Given the description of an element on the screen output the (x, y) to click on. 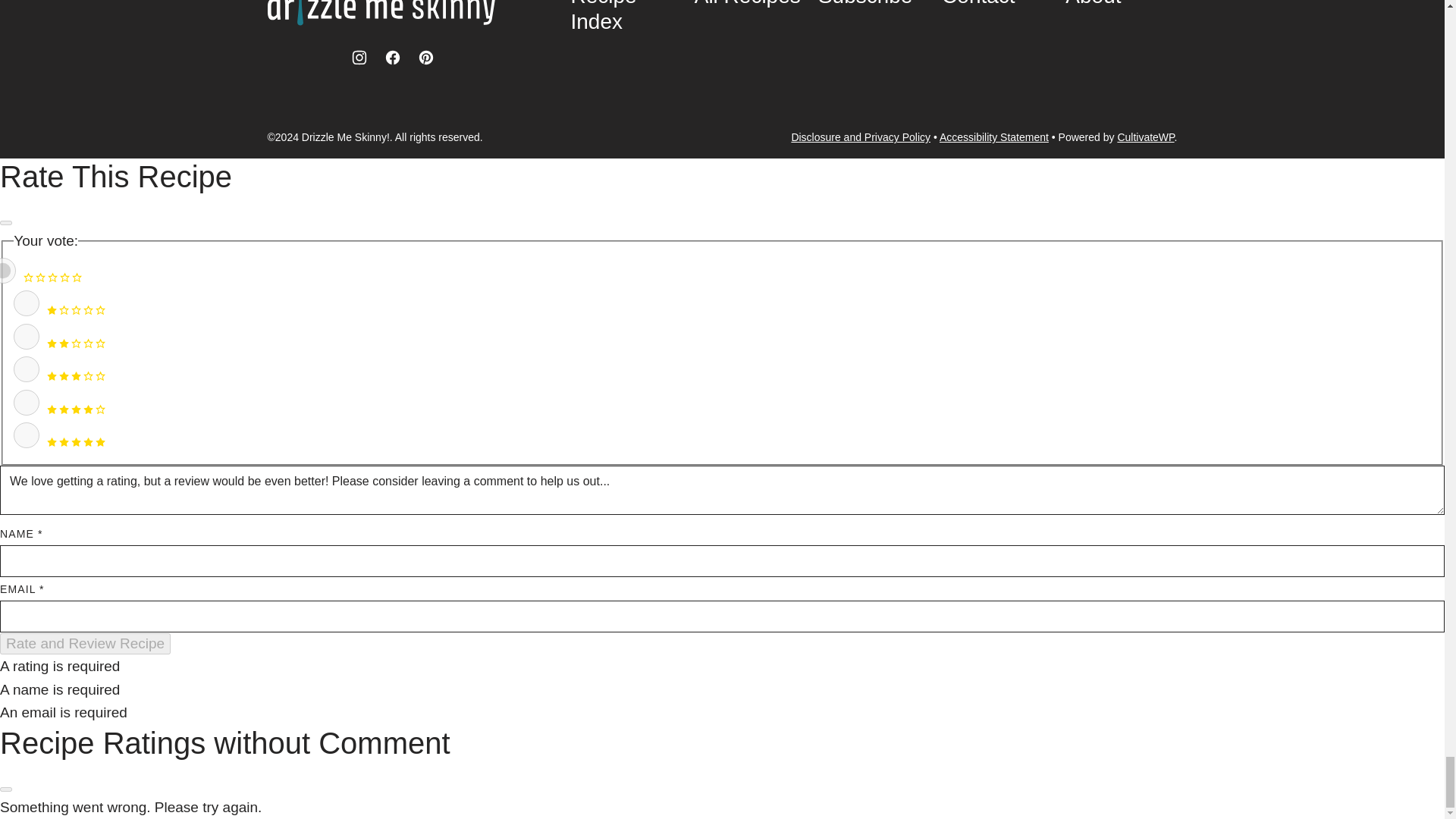
2 (26, 336)
3 (26, 369)
1 (26, 303)
